Given the description of an element on the screen output the (x, y) to click on. 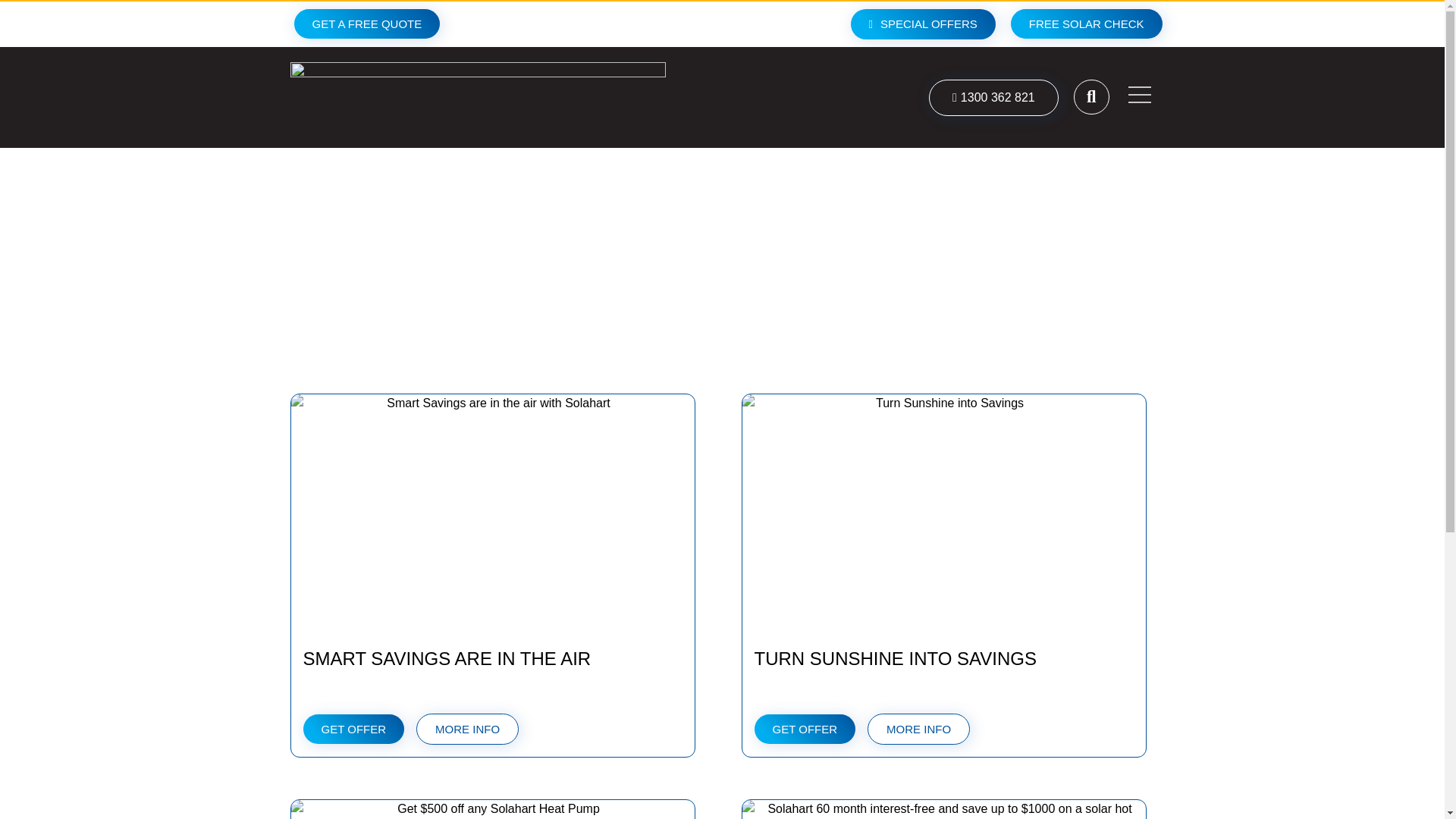
FREE SOLAR CHECK (1085, 23)
GET A FREE QUOTE (367, 23)
1300 362 821 (993, 96)
MORE INFO (467, 728)
MORE INFO (918, 728)
GET OFFER (353, 728)
SPECIAL OFFERS (922, 24)
GET OFFER (805, 728)
